Given the description of an element on the screen output the (x, y) to click on. 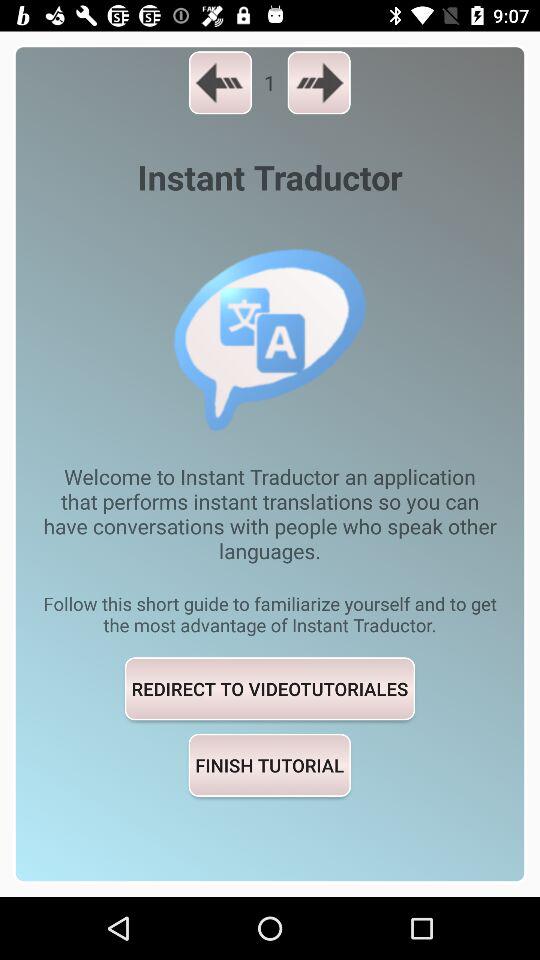
press finish tutorial icon (269, 764)
